Given the description of an element on the screen output the (x, y) to click on. 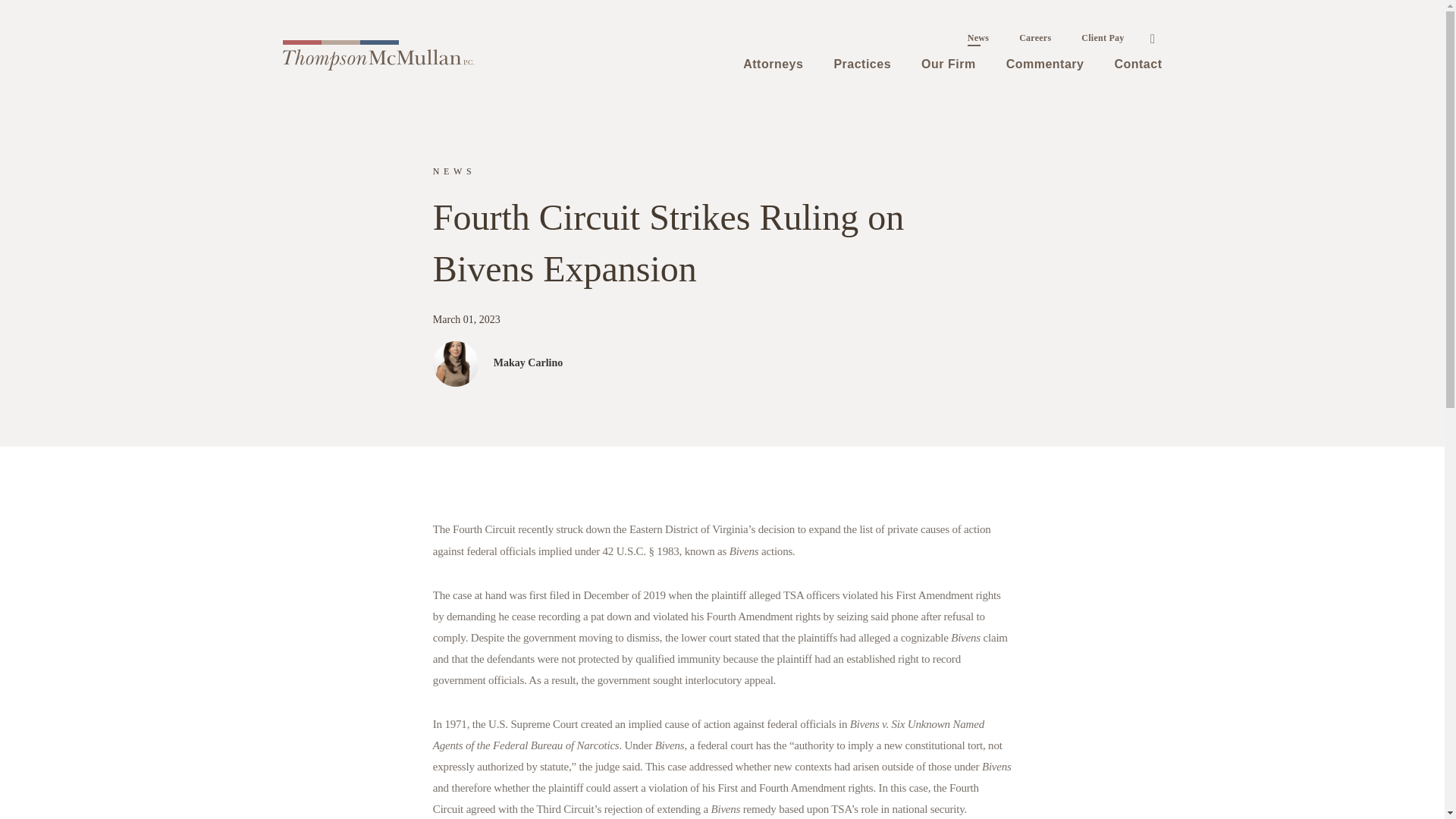
Client Pay (1101, 38)
Attorneys (773, 64)
Commentary (1045, 64)
Contact (1137, 64)
Our Firm (948, 64)
ThompsonMcMullan.com (377, 53)
News (978, 38)
Careers (1034, 38)
ThompsonMcMullan.com (377, 59)
Practices (861, 64)
